Given the description of an element on the screen output the (x, y) to click on. 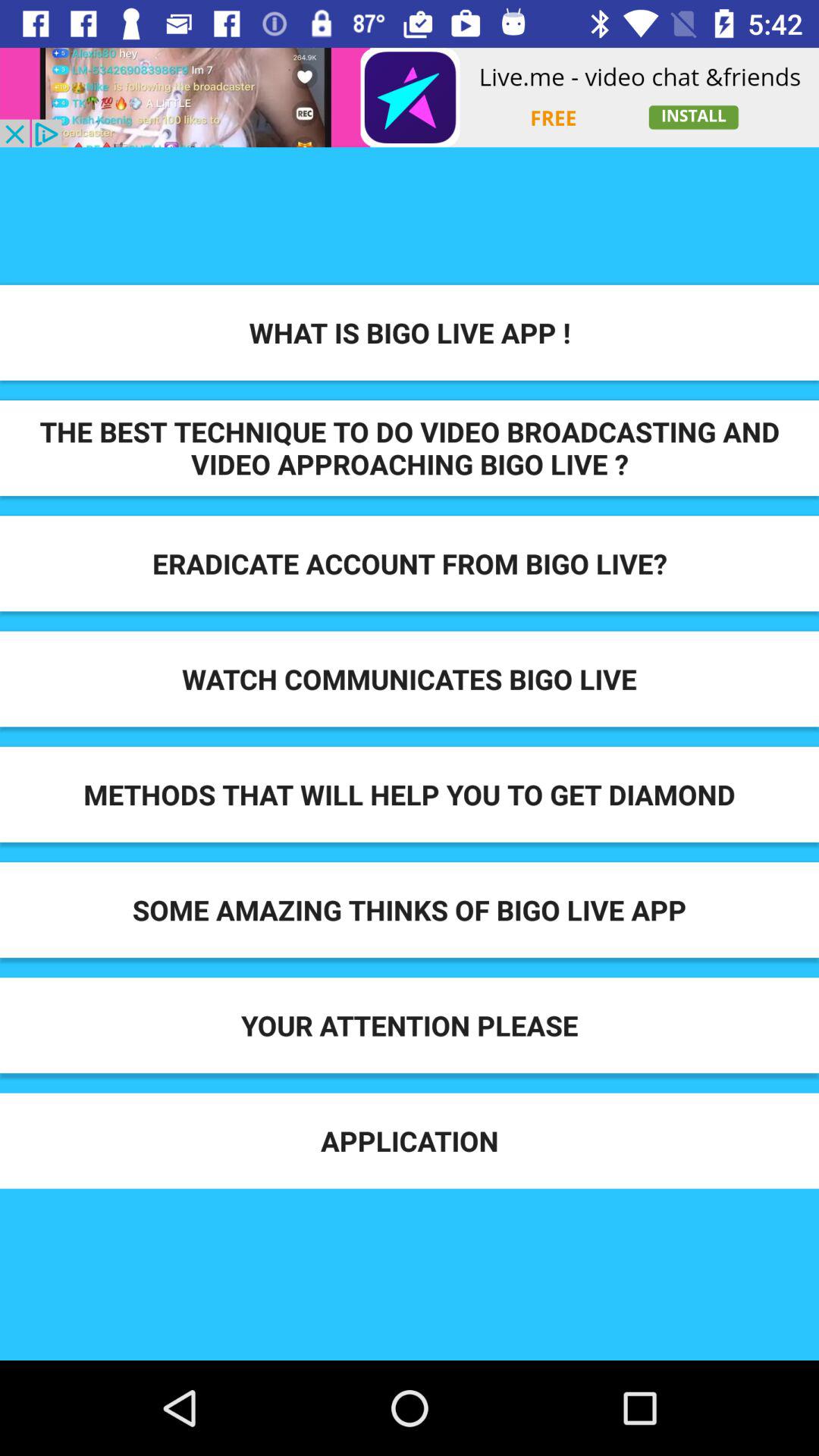
advertisement clicking option (409, 97)
